Given the description of an element on the screen output the (x, y) to click on. 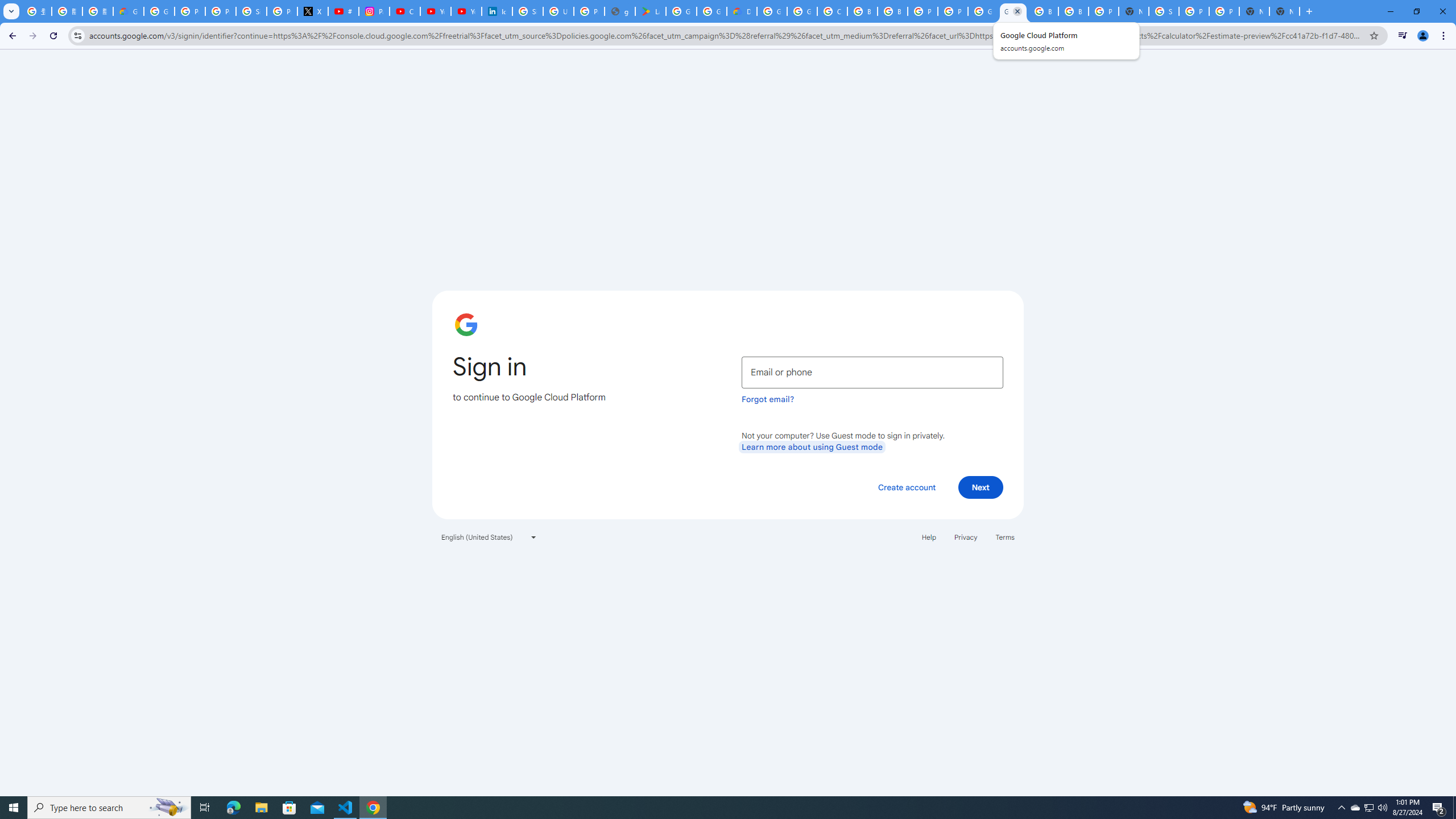
X (312, 11)
Forgot email? (767, 398)
Google Cloud Platform (1012, 11)
